Given the description of an element on the screen output the (x, y) to click on. 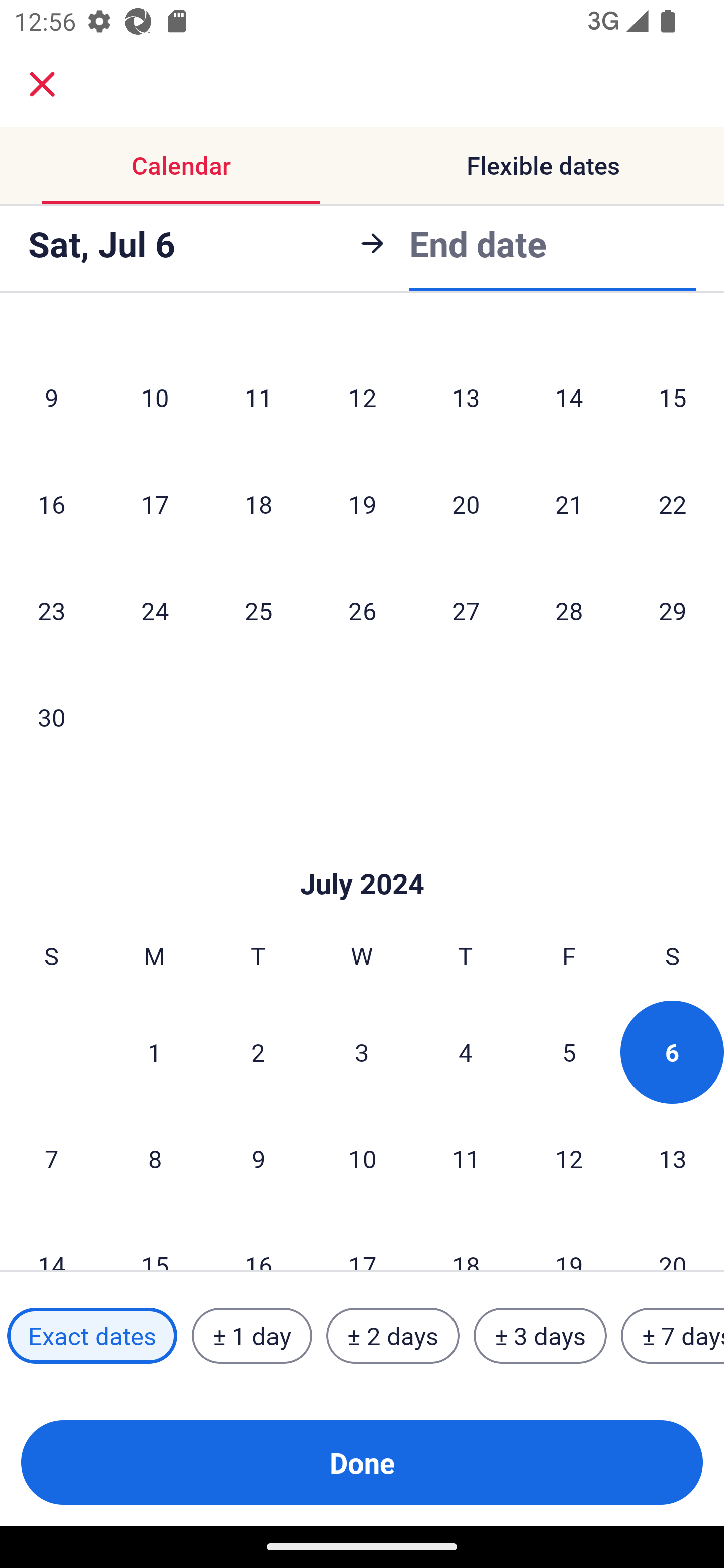
close. (42, 84)
Flexible dates (542, 164)
End date (477, 240)
9 Sunday, June 9, 2024 (51, 397)
10 Monday, June 10, 2024 (155, 397)
11 Tuesday, June 11, 2024 (258, 397)
12 Wednesday, June 12, 2024 (362, 397)
13 Thursday, June 13, 2024 (465, 397)
14 Friday, June 14, 2024 (569, 397)
15 Saturday, June 15, 2024 (672, 397)
16 Sunday, June 16, 2024 (51, 503)
17 Monday, June 17, 2024 (155, 503)
18 Tuesday, June 18, 2024 (258, 503)
19 Wednesday, June 19, 2024 (362, 503)
20 Thursday, June 20, 2024 (465, 503)
21 Friday, June 21, 2024 (569, 503)
22 Saturday, June 22, 2024 (672, 503)
23 Sunday, June 23, 2024 (51, 609)
24 Monday, June 24, 2024 (155, 609)
25 Tuesday, June 25, 2024 (258, 609)
26 Wednesday, June 26, 2024 (362, 609)
27 Thursday, June 27, 2024 (465, 609)
28 Friday, June 28, 2024 (569, 609)
29 Saturday, June 29, 2024 (672, 609)
30 Sunday, June 30, 2024 (51, 716)
Skip to Done (362, 853)
1 Monday, July 1, 2024 (154, 1051)
2 Tuesday, July 2, 2024 (257, 1051)
3 Wednesday, July 3, 2024 (361, 1051)
4 Thursday, July 4, 2024 (465, 1051)
5 Friday, July 5, 2024 (568, 1051)
7 Sunday, July 7, 2024 (51, 1158)
8 Monday, July 8, 2024 (155, 1158)
9 Tuesday, July 9, 2024 (258, 1158)
10 Wednesday, July 10, 2024 (362, 1158)
11 Thursday, July 11, 2024 (465, 1158)
12 Friday, July 12, 2024 (569, 1158)
13 Saturday, July 13, 2024 (672, 1158)
Exact dates (92, 1335)
± 1 day (251, 1335)
± 2 days (392, 1335)
± 3 days (539, 1335)
± 7 days (672, 1335)
Done (361, 1462)
